Given the description of an element on the screen output the (x, y) to click on. 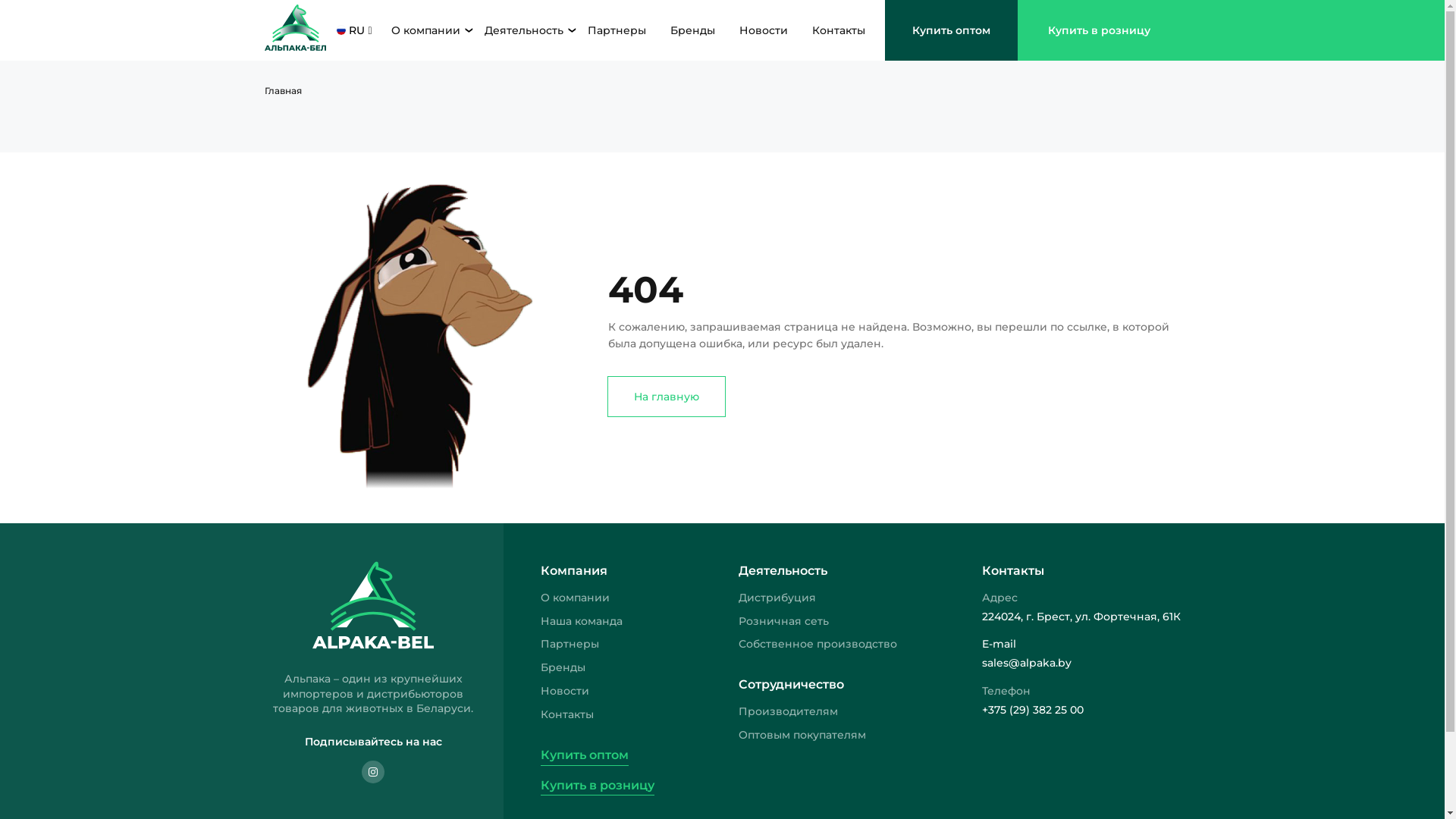
sales@alpaka.by Element type: text (1080, 662)
+375 (29) 382 25 00 Element type: text (1080, 709)
